Given the description of an element on the screen output the (x, y) to click on. 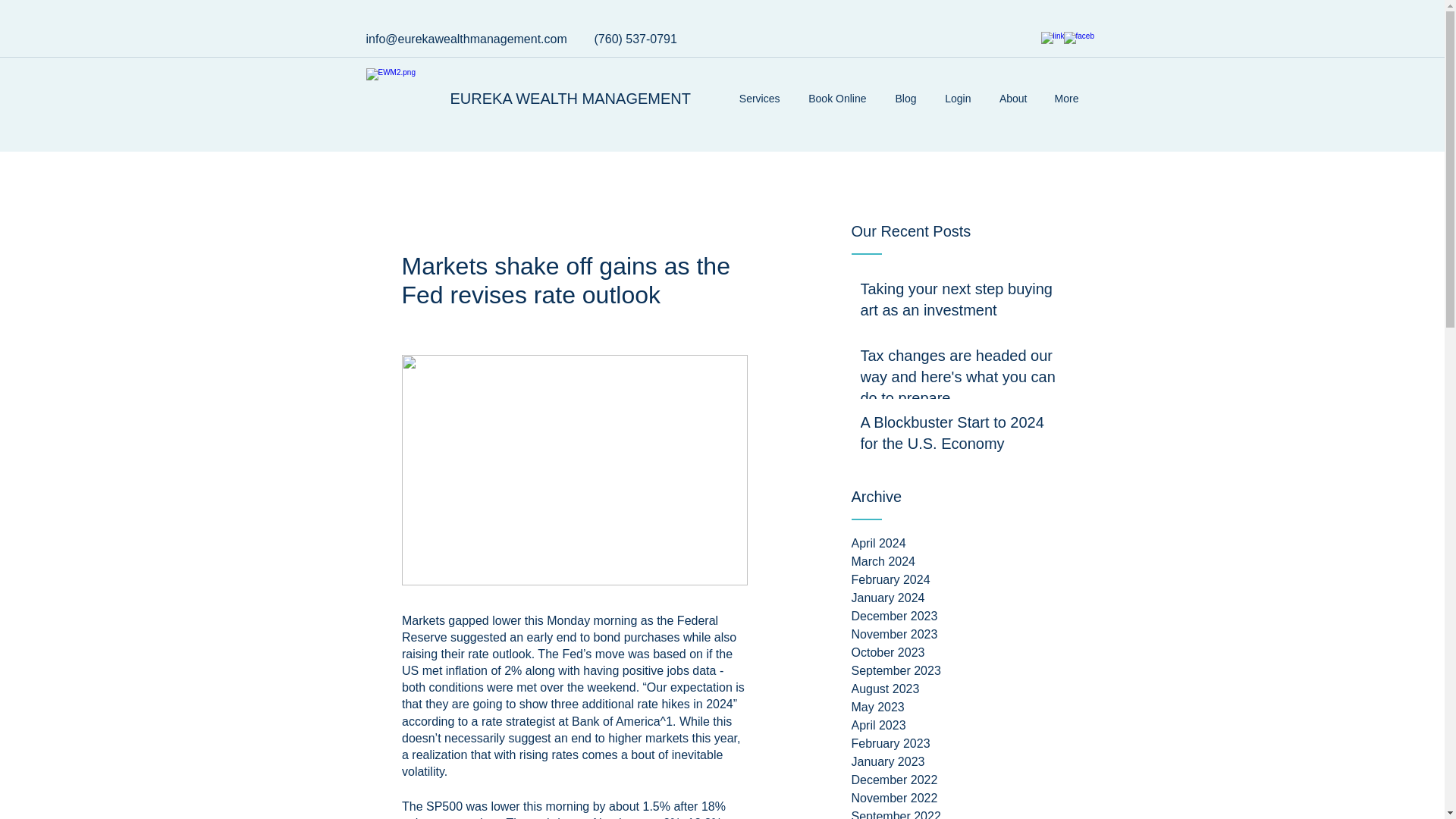
A Blockbuster Start to 2024 for the U.S. Economy (959, 435)
Services (756, 97)
Blog (902, 97)
December 2023 (964, 616)
February 2023 (964, 743)
February 2024 (964, 579)
January 2024 (964, 597)
October 2023 (964, 652)
November 2023 (964, 634)
September 2022 (964, 813)
January 2023 (964, 761)
August 2023 (964, 689)
September 2023 (964, 670)
Book Online (834, 97)
April 2024 (964, 543)
